Given the description of an element on the screen output the (x, y) to click on. 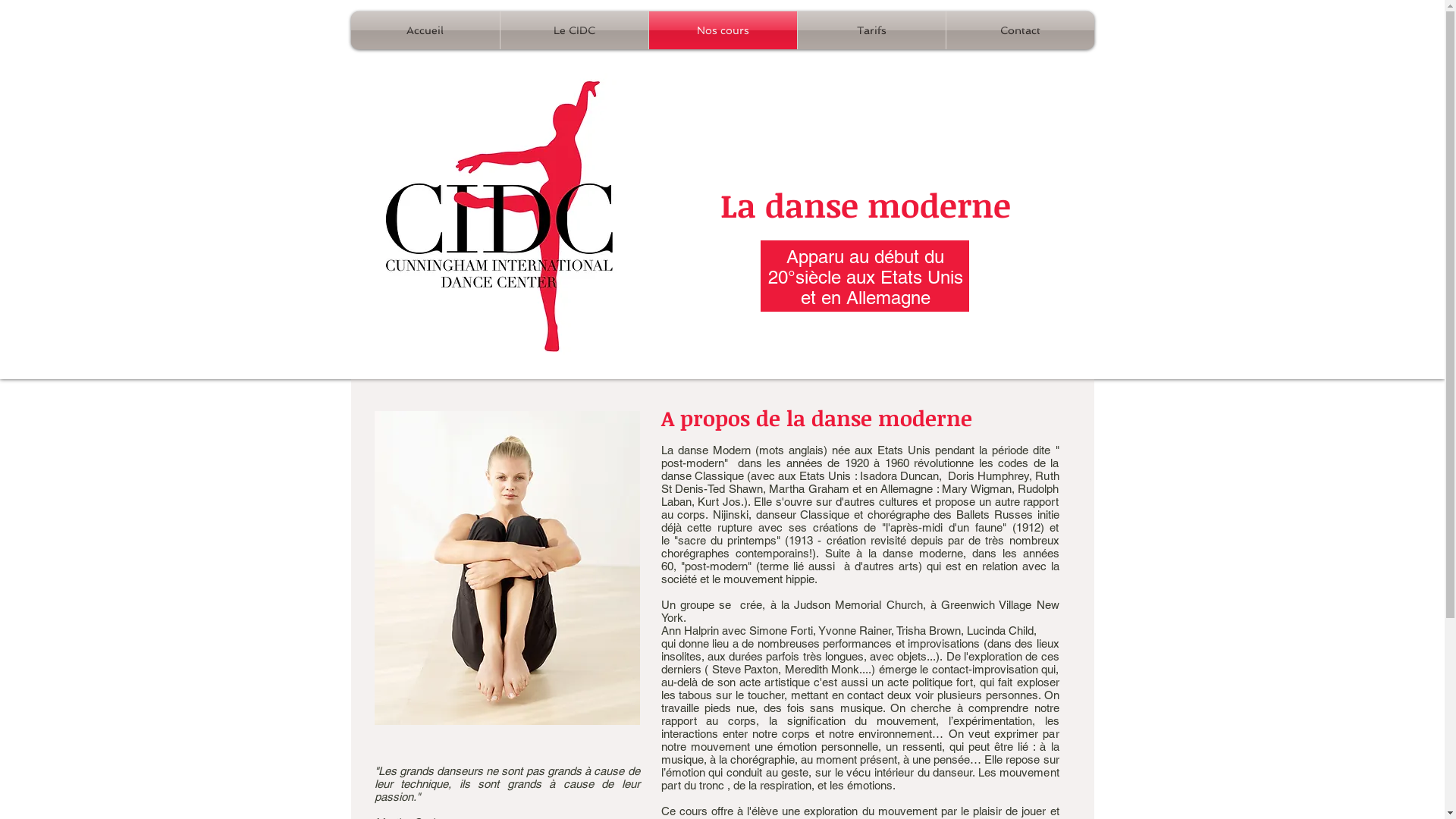
Contact Element type: text (1020, 30)
Accueil Element type: text (424, 30)
Le CIDC Element type: text (574, 30)
Pilates Exercise Element type: hover (507, 567)
Nos cours Element type: text (723, 30)
Tarifs Element type: text (871, 30)
